Given the description of an element on the screen output the (x, y) to click on. 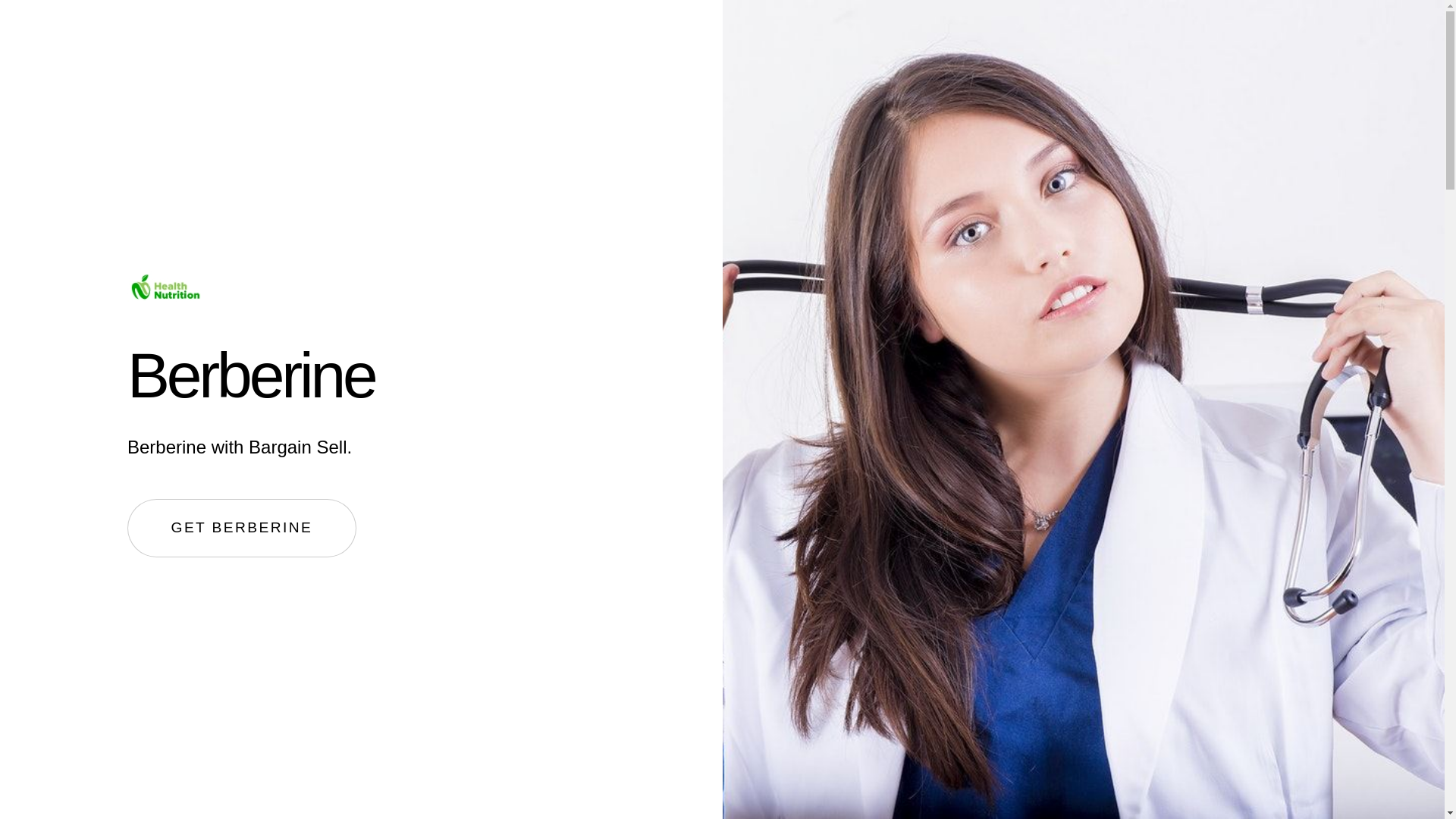
Berberine (251, 375)
GET BERBERINE (242, 527)
GET BERBERINE (242, 527)
